Given the description of an element on the screen output the (x, y) to click on. 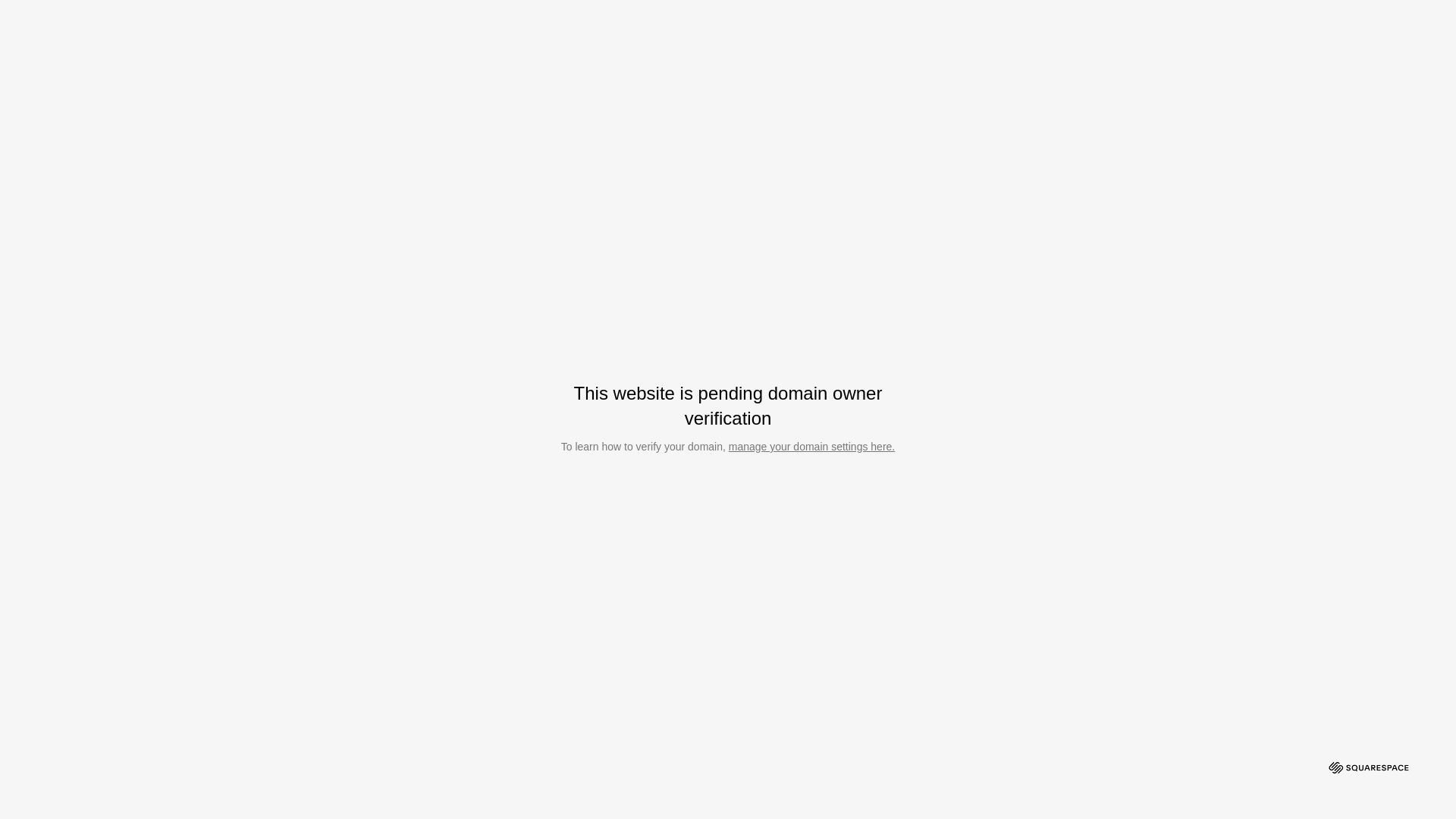
manage your domain settings here. Element type: text (811, 446)
